Given the description of an element on the screen output the (x, y) to click on. 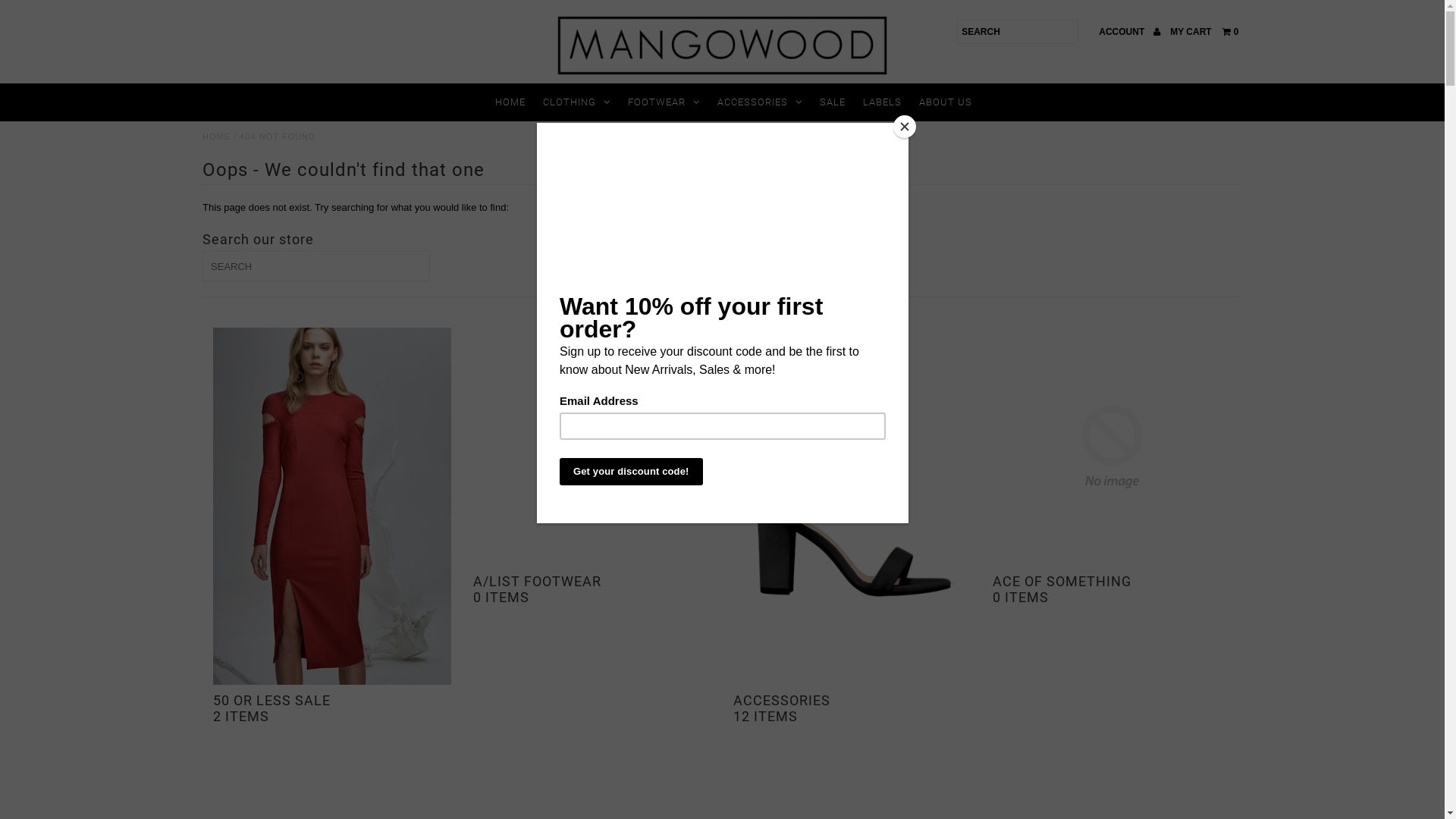
HOME Element type: text (510, 102)
A/LIST FOOTWEAR
0 ITEMS Element type: text (592, 589)
ACCOUNT Element type: text (1128, 31)
CLOTHING Element type: text (576, 102)
LABELS Element type: text (882, 102)
50 OR LESS SALE
2 ITEMS Element type: text (332, 708)
ACCESSORIES
12 ITEMS Element type: text (852, 708)
SALE Element type: text (832, 102)
HOME Element type: text (216, 136)
FOOTWEAR Element type: text (663, 102)
ACCESSORIES Element type: text (759, 102)
ABOUT US Element type: text (945, 102)
ACE OF SOMETHING
0 ITEMS Element type: text (1111, 589)
MY CART   0 Element type: text (1204, 31)
